Given the description of an element on the screen output the (x, y) to click on. 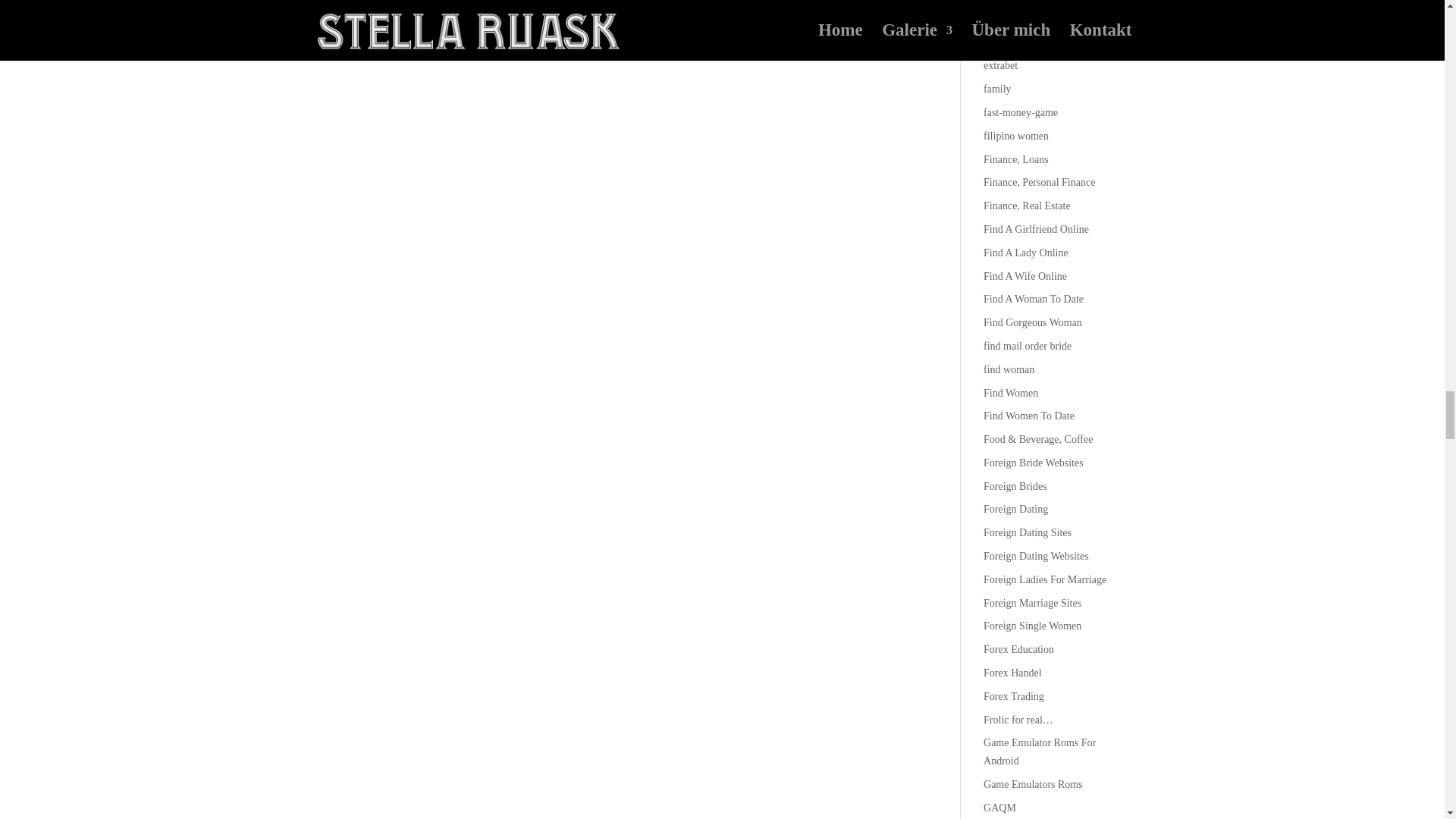
Finance, Personal Finance (1039, 182)
Finance, Real Estate (1027, 205)
Finance, Loans (1016, 159)
